Given the description of an element on the screen output the (x, y) to click on. 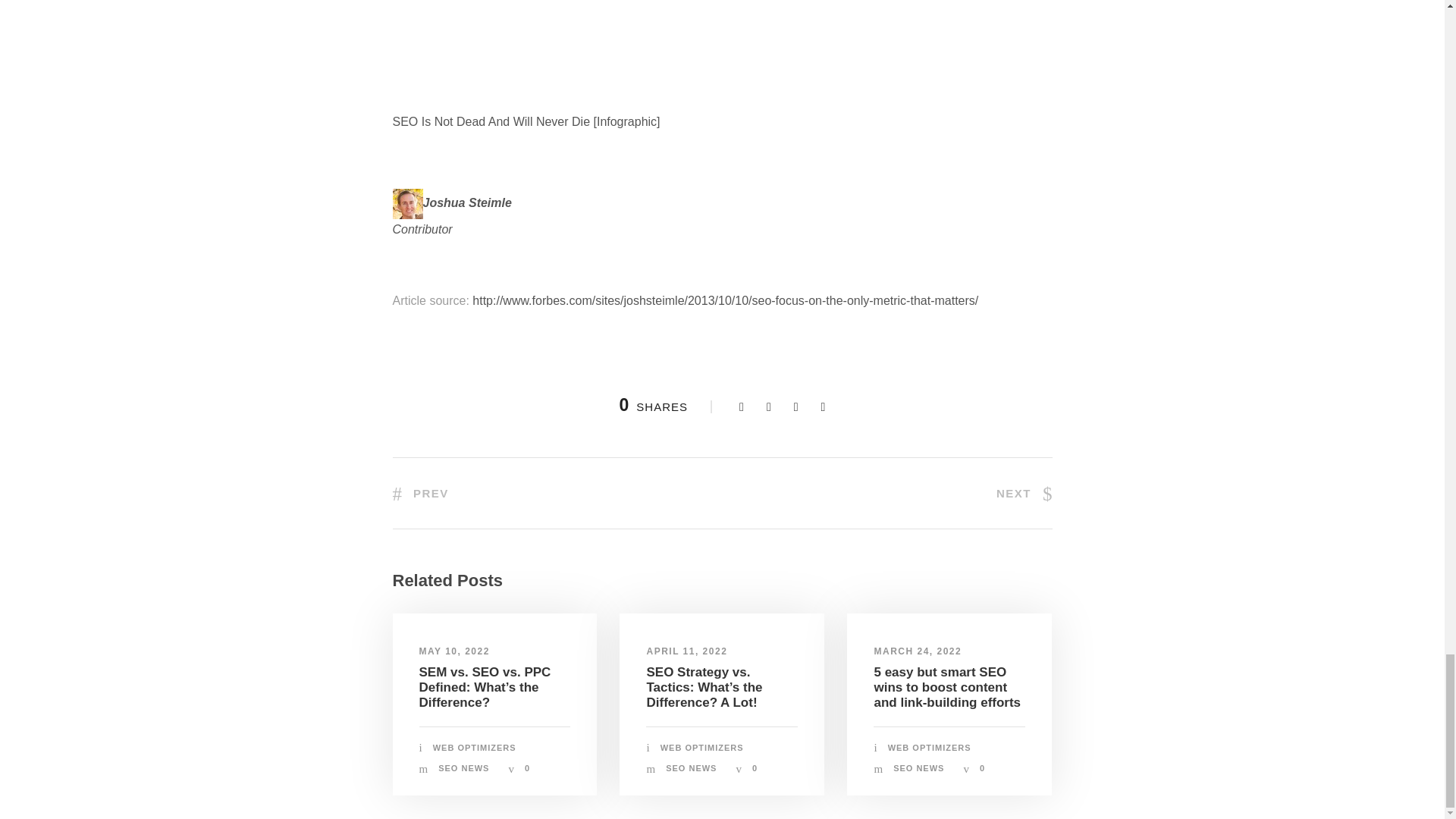
Posts by Web Optimizers (702, 747)
Posts by Web Optimizers (929, 747)
Posts by Web Optimizers (474, 747)
